Given the description of an element on the screen output the (x, y) to click on. 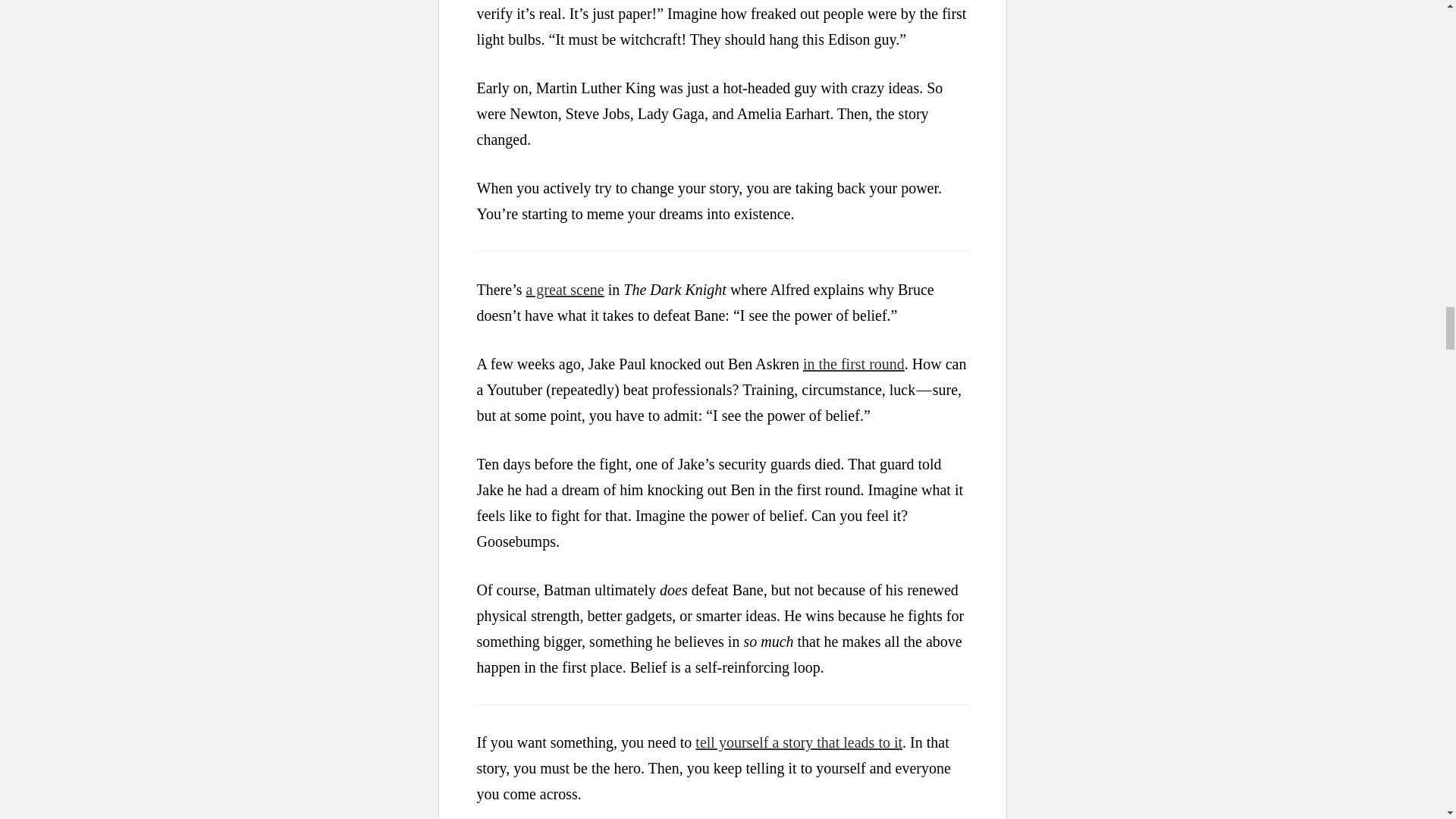
in the first round (853, 362)
a great scene (564, 288)
